Given the description of an element on the screen output the (x, y) to click on. 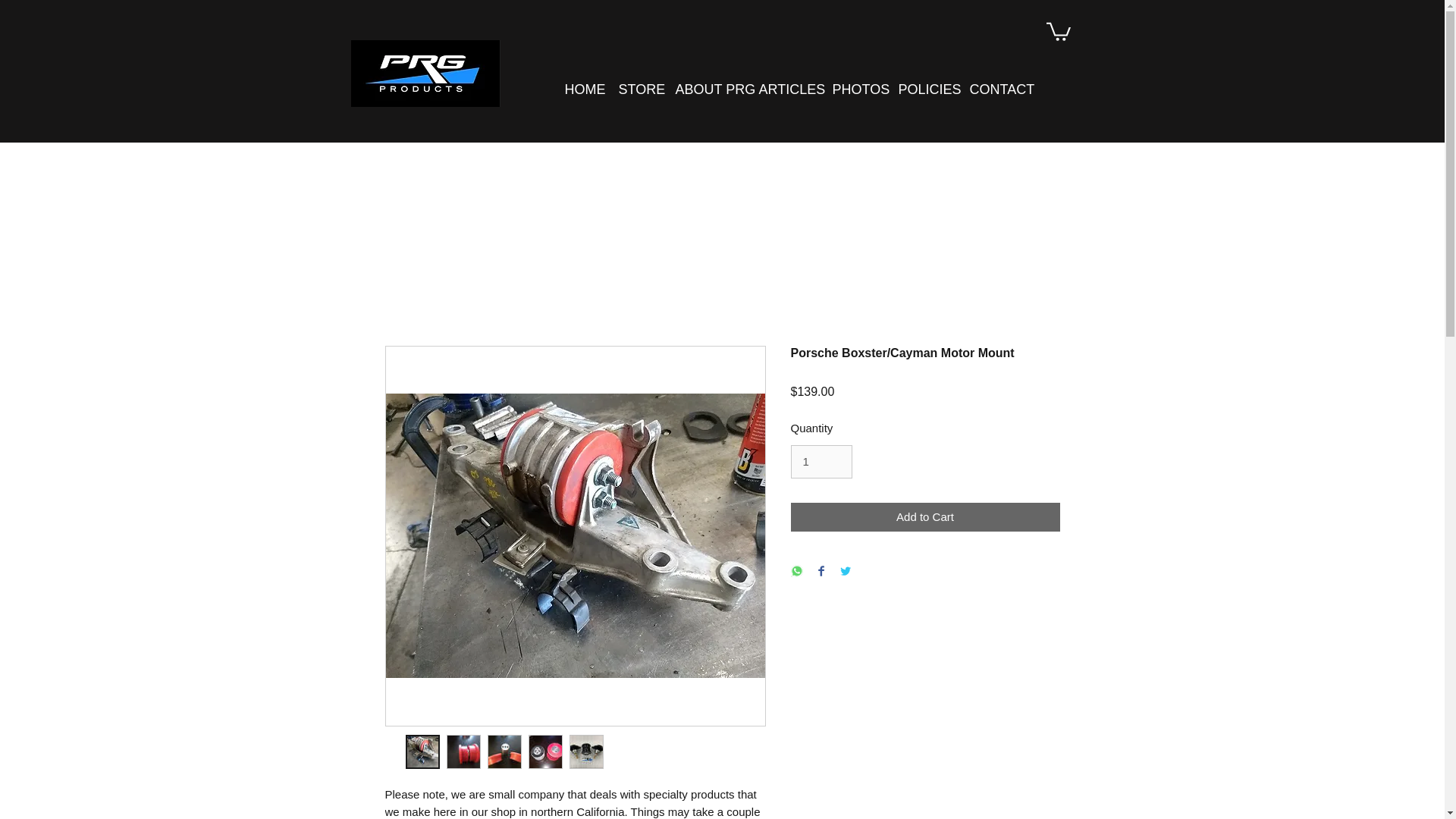
PHOTOS (853, 89)
ARTICLES (784, 89)
1 (820, 461)
HOME (580, 89)
ABOUT PRG (705, 89)
CONTACT (994, 89)
STORE (635, 89)
Add to Cart (924, 517)
POLICIES (922, 89)
